Given the description of an element on the screen output the (x, y) to click on. 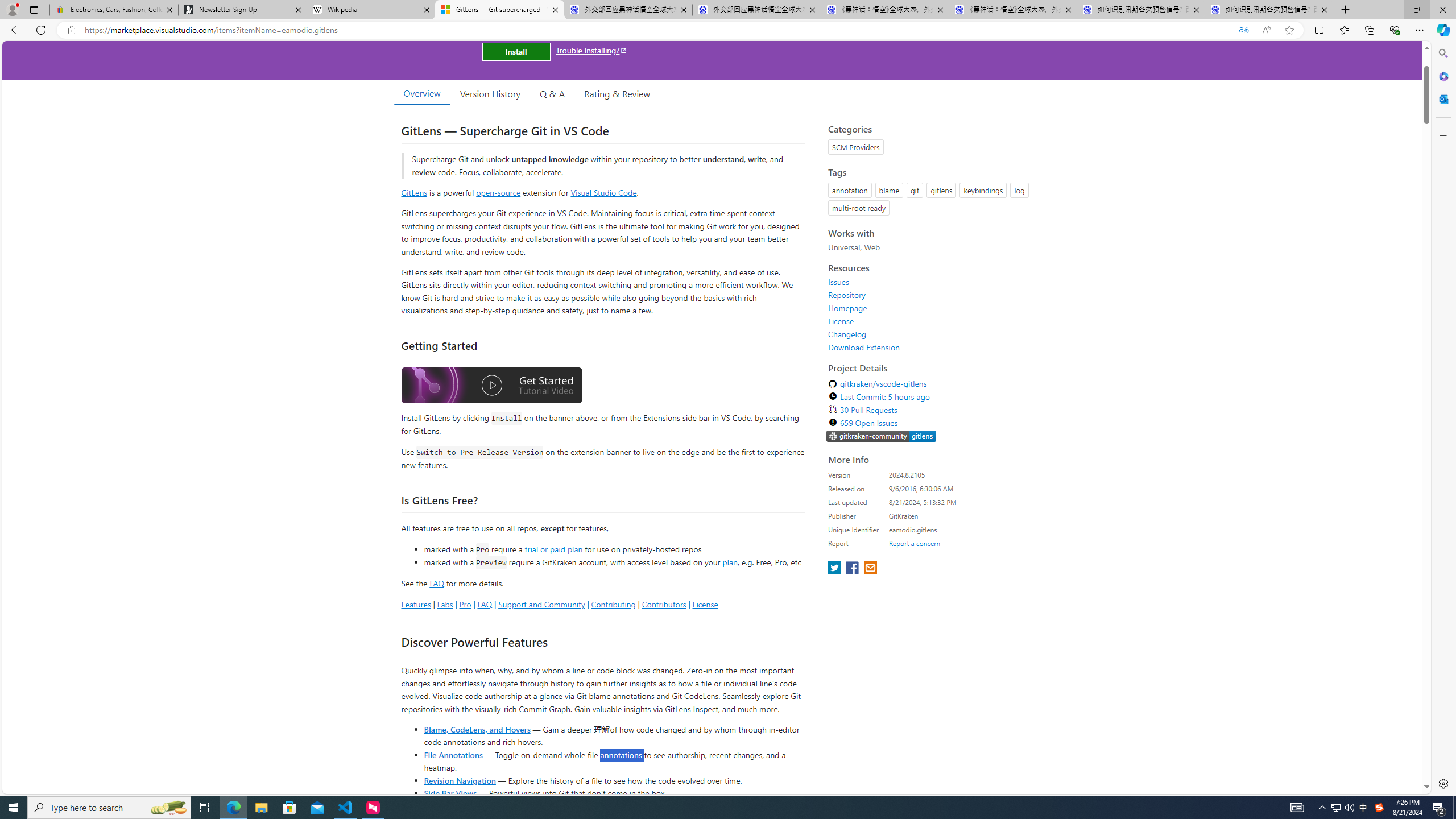
Changelog (847, 333)
https://slack.gitkraken.com// (881, 436)
share extension on facebook (853, 568)
Overview (421, 92)
Support and Community (541, 603)
Report a concern (914, 542)
